Given the description of an element on the screen output the (x, y) to click on. 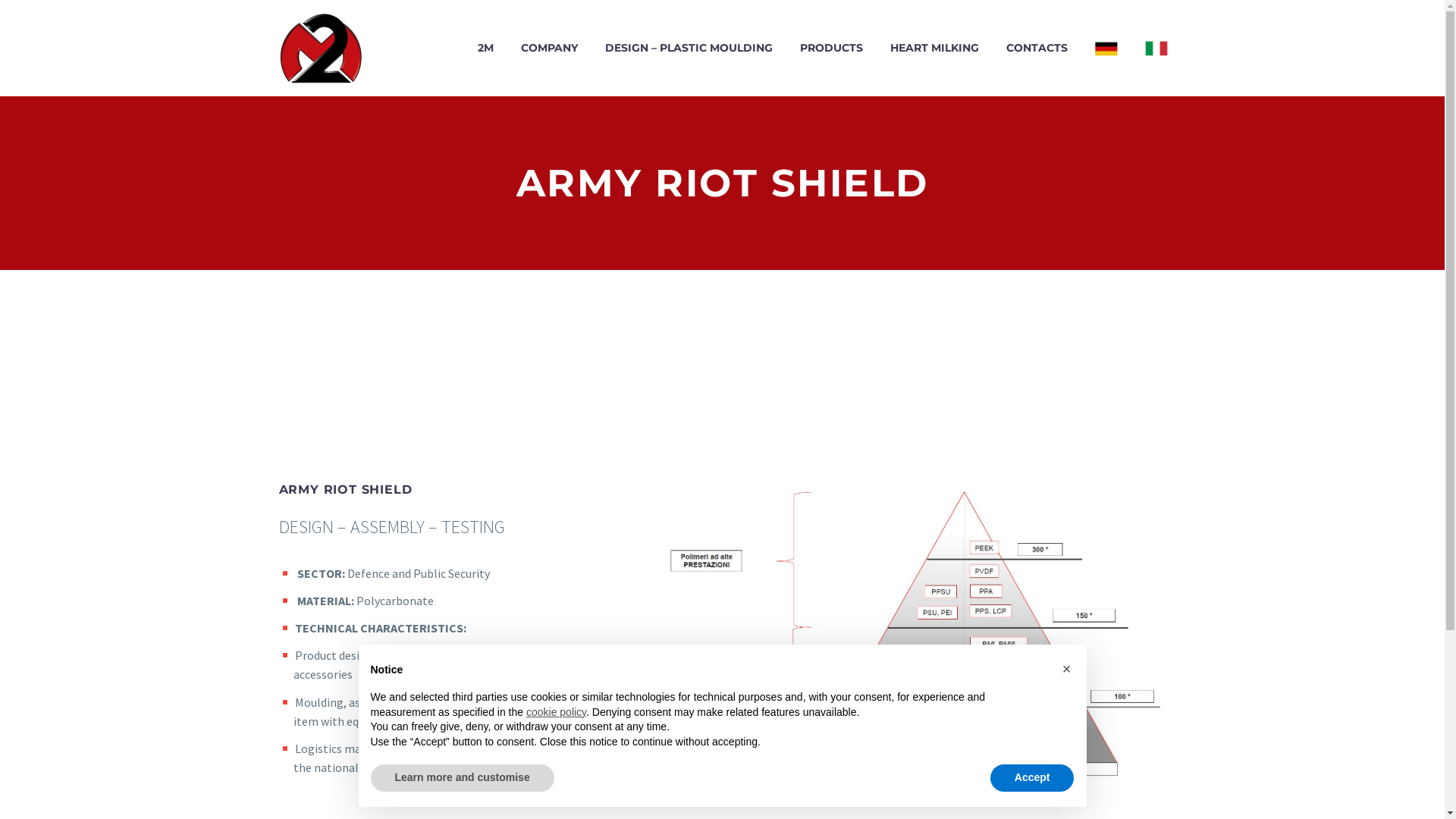
PRODUCTS Element type: text (831, 47)
CONTACTS Element type: text (1036, 47)
COMPANY Element type: text (549, 47)
Learn more and customise Element type: text (461, 777)
HEART MILKING Element type: text (933, 47)
cookie policy Element type: text (556, 712)
2M Element type: text (484, 47)
Accept Element type: text (1032, 777)
PIRAMIDE POLIMERI GRIGIO Element type: hover (913, 628)
